Given the description of an element on the screen output the (x, y) to click on. 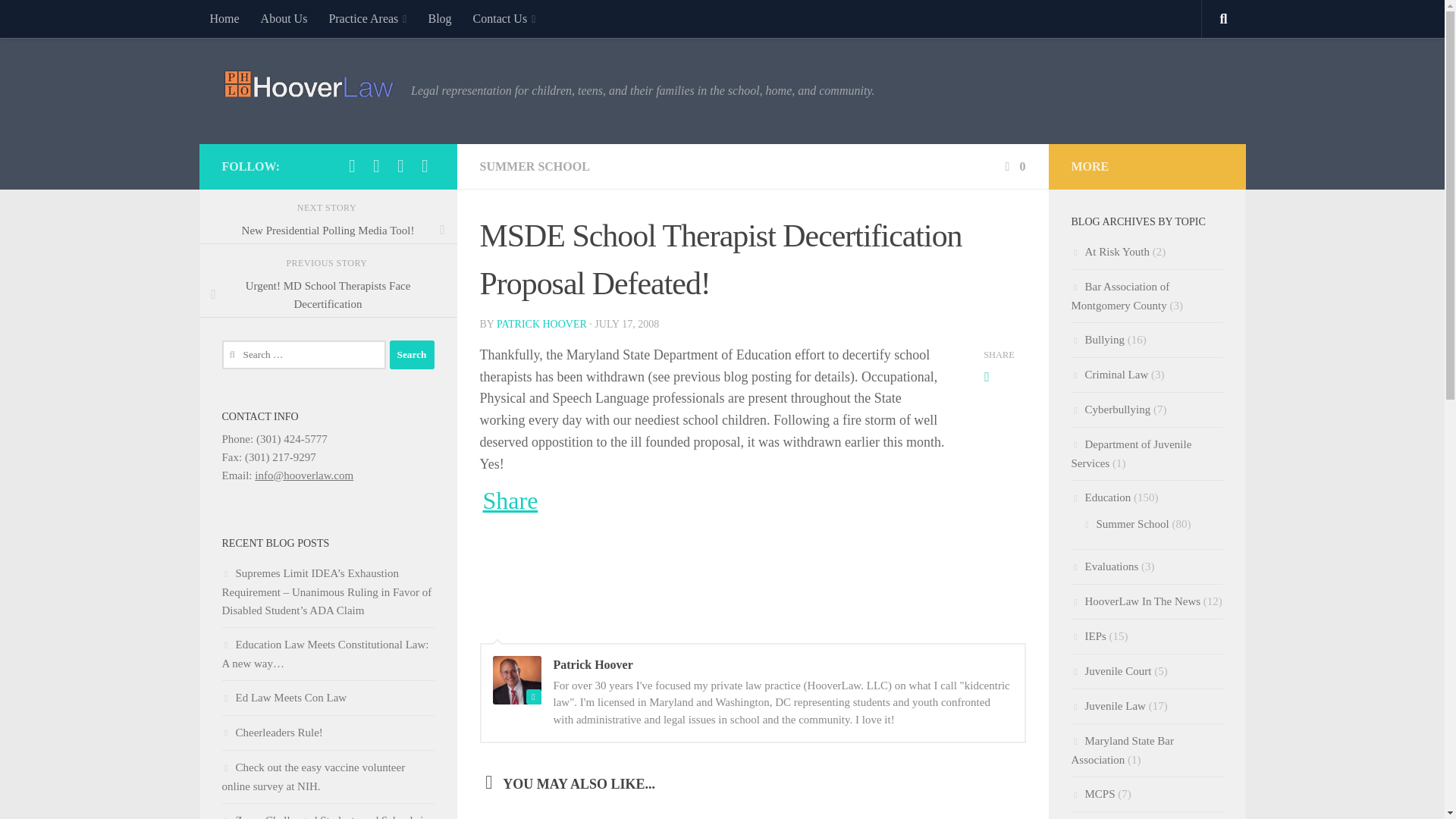
Share (509, 500)
SUMMER SCHOOL (534, 165)
0 (1013, 165)
PATRICK HOOVER (541, 324)
Facebook (351, 166)
Posts by Patrick Hoover (541, 324)
Practice Areas (366, 18)
Search (411, 354)
Home (223, 18)
Skip to content (59, 20)
